Given the description of an element on the screen output the (x, y) to click on. 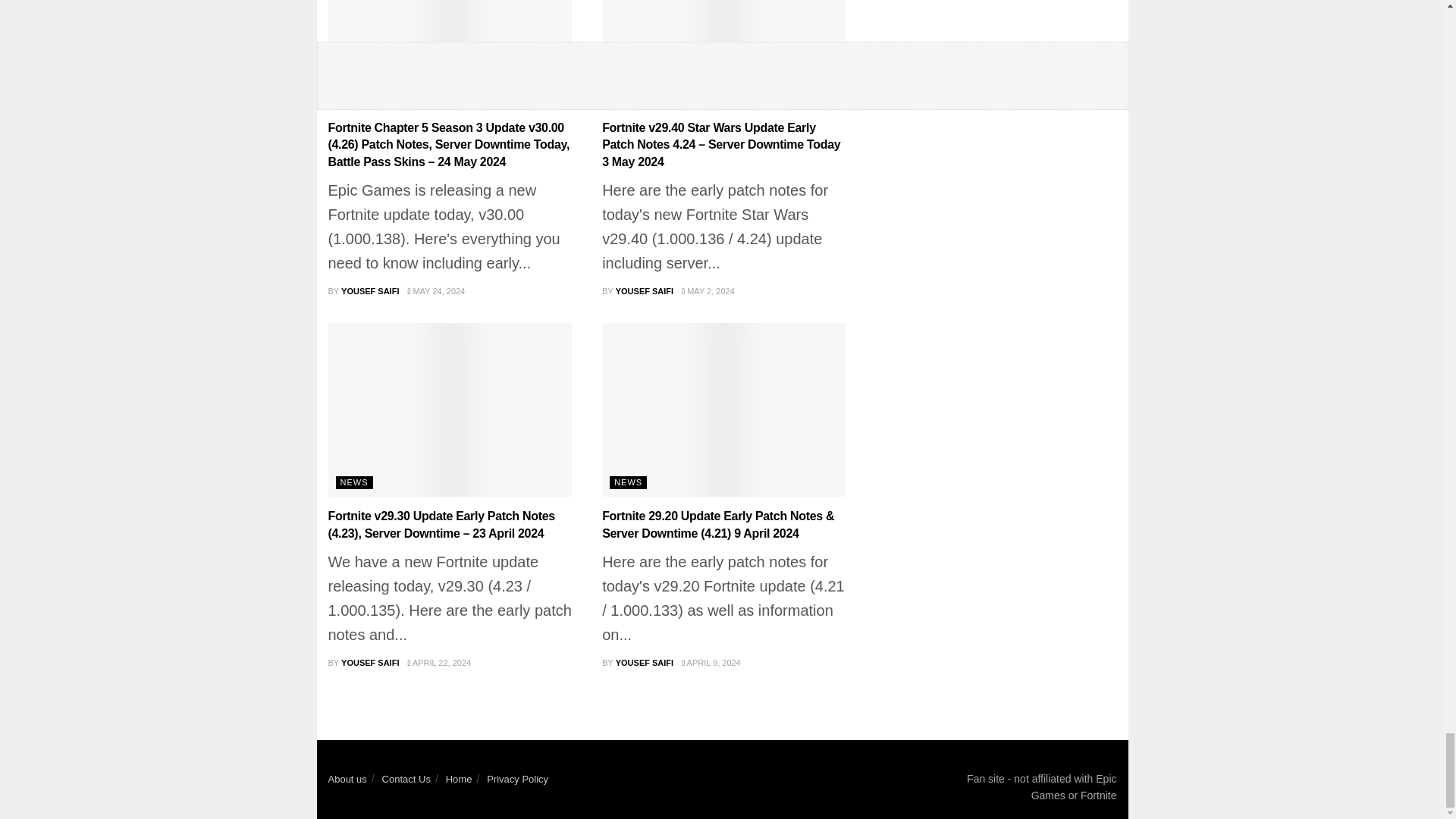
MAY 24, 2024 (435, 290)
YOUSEF SAIFI (369, 290)
YOUSEF SAIFI (643, 290)
NEWS (628, 93)
NEWS (353, 93)
